Given the description of an element on the screen output the (x, y) to click on. 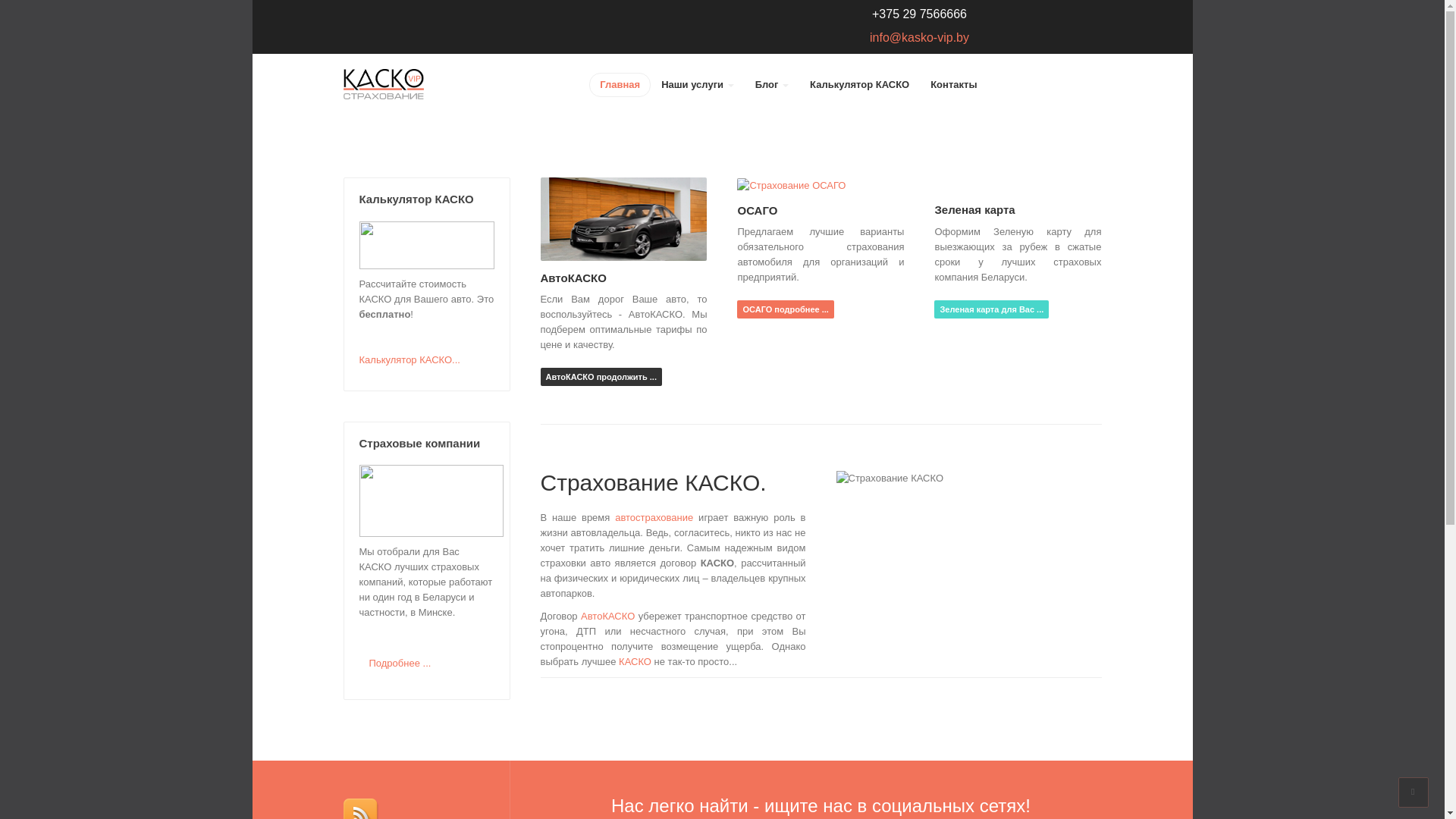
info@kasko-vip.by Element type: text (919, 37)
